Given the description of an element on the screen output the (x, y) to click on. 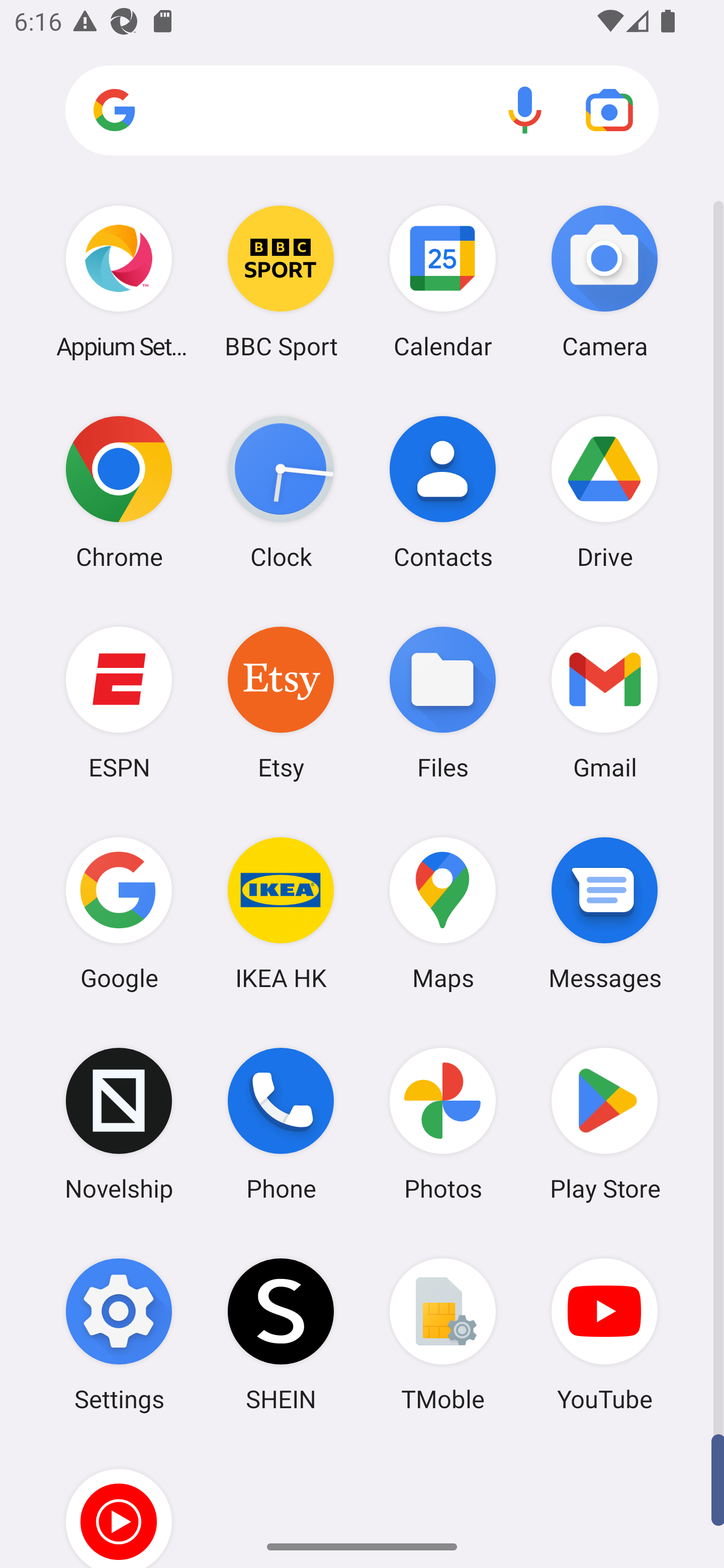
Search apps, web and more (361, 110)
Voice search (524, 109)
Google Lens (608, 109)
Appium Settings (118, 281)
BBC Sport (280, 281)
Calendar (443, 281)
Camera (604, 281)
Chrome (118, 492)
Clock (280, 492)
Contacts (443, 492)
Drive (604, 492)
ESPN (118, 702)
Etsy (280, 702)
Files (443, 702)
Gmail (604, 702)
Google (118, 913)
IKEA HK (280, 913)
Maps (443, 913)
Messages (604, 913)
Novelship (118, 1124)
Phone (280, 1124)
Photos (443, 1124)
Play Store (604, 1124)
Settings (118, 1334)
SHEIN (280, 1334)
TMoble (443, 1334)
YouTube (604, 1334)
YT Music (118, 1503)
